Given the description of an element on the screen output the (x, y) to click on. 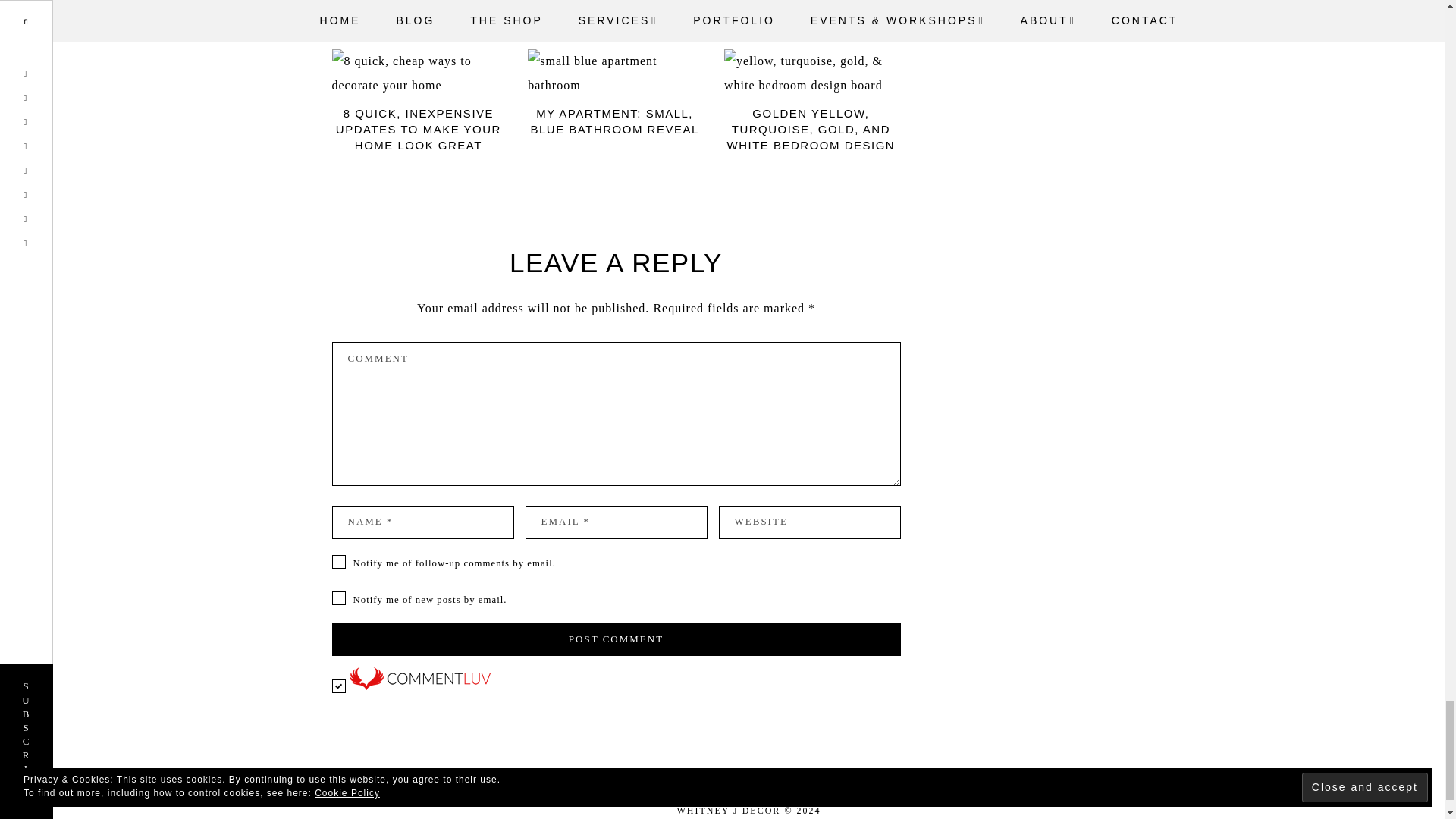
Post Comment (616, 639)
subscribe (338, 561)
on (338, 685)
CommentLuv is enabled (419, 685)
subscribe (338, 598)
